Given the description of an element on the screen output the (x, y) to click on. 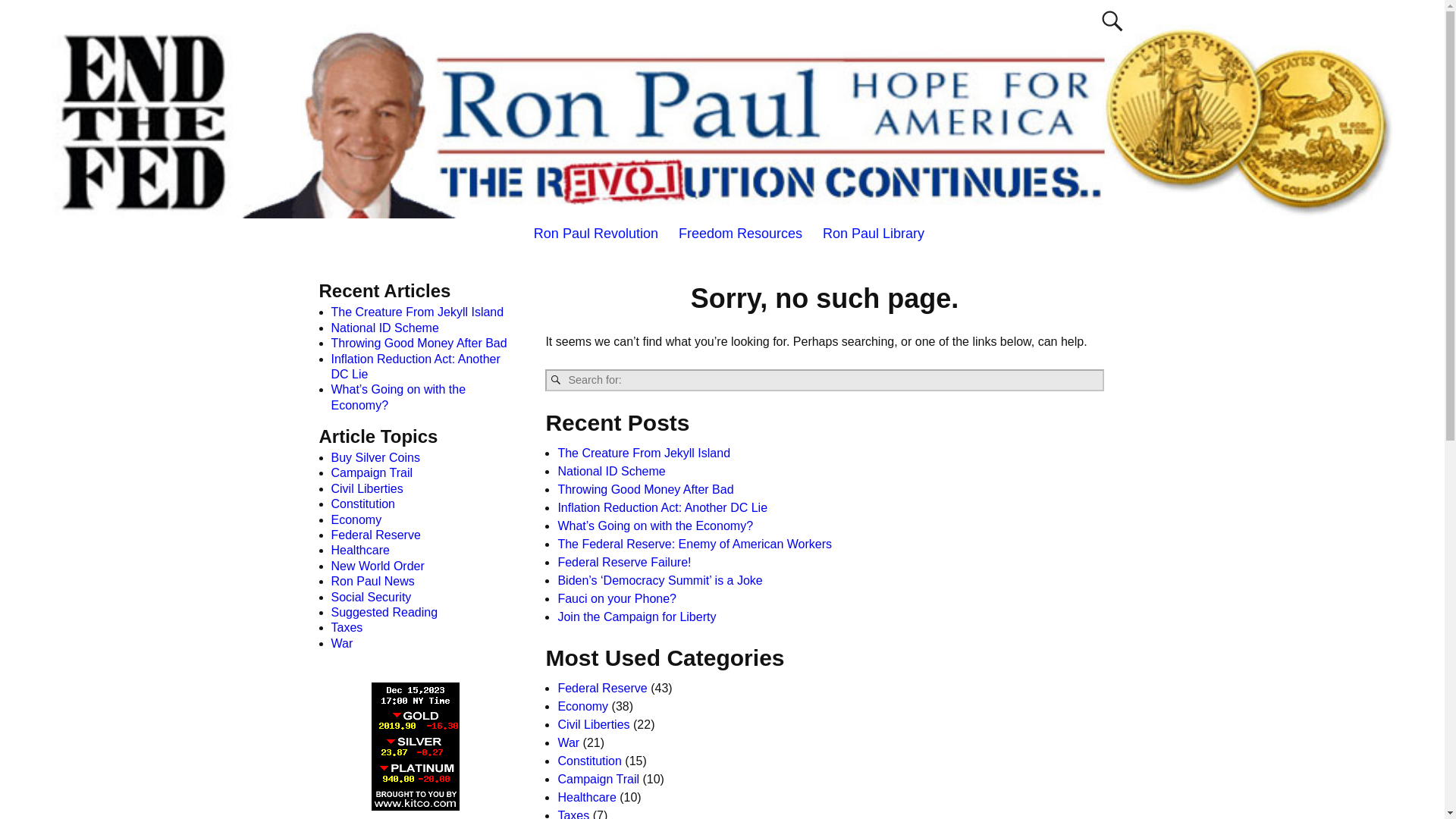
Ron Paul Revolution (595, 233)
Constitution (589, 760)
Join the Campaign for Liberty (636, 616)
Federal Reserve Failure! (623, 562)
Taxes (573, 814)
The Federal Reserve: Enemy of American Workers (694, 543)
Federal Reserve (601, 687)
National ID Scheme (611, 471)
War (568, 742)
Fauci on your Phone? (617, 598)
Campaign Trail (598, 779)
The Creature From Jekyll Island (643, 452)
Freedom Resources (740, 233)
Inflation Reduction Act: Another DC Lie (662, 507)
Civil Liberties (592, 724)
